Given the description of an element on the screen output the (x, y) to click on. 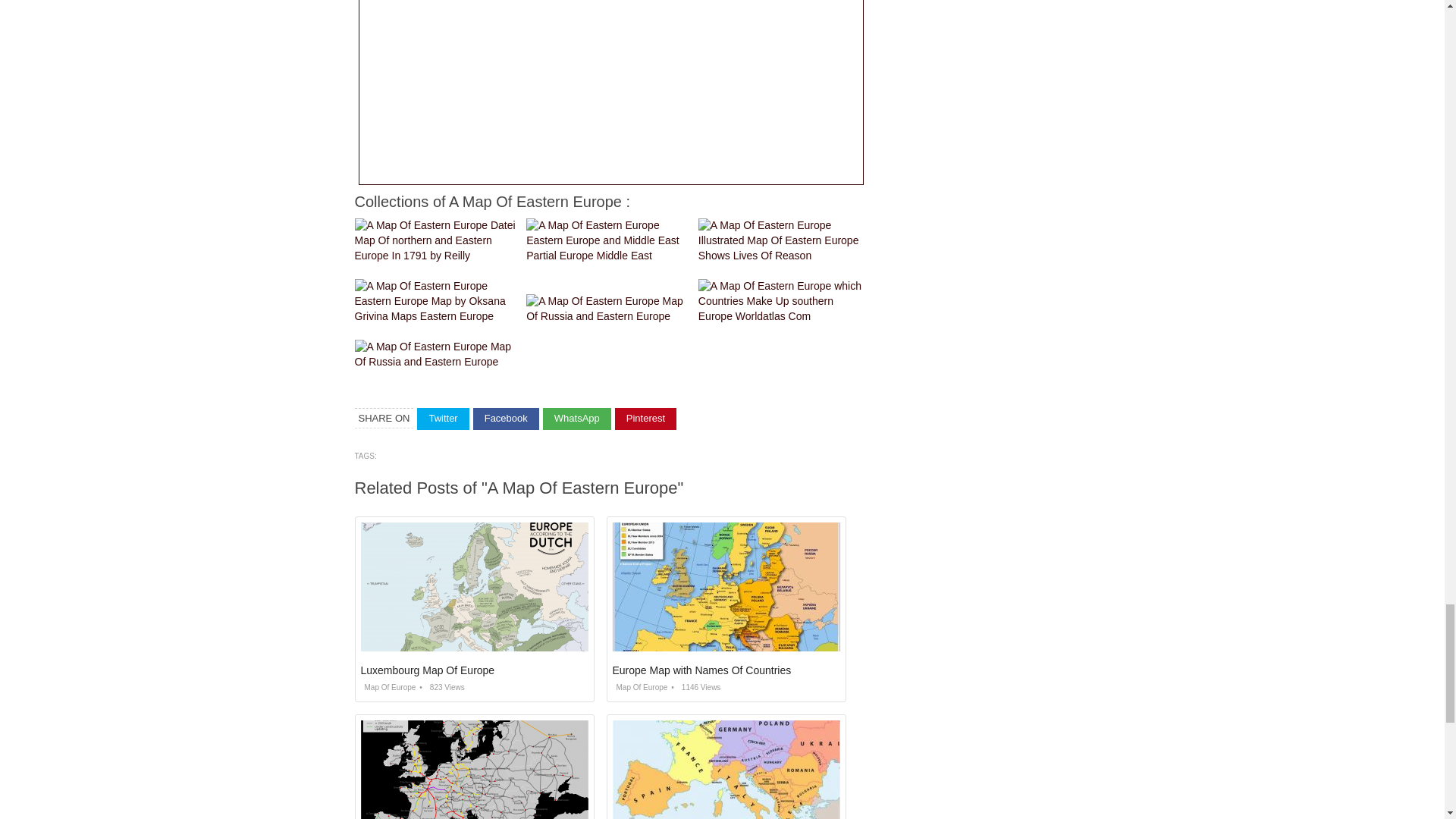
Map Of Europe (388, 687)
Facebook (505, 418)
Luxembourg Map Of Europe (428, 670)
A Map Of Eastern Europe Map Of Russia and Eastern Europe (607, 309)
Europe Map with Names Of Countries (702, 670)
Map Of Europe (640, 687)
Share on Twitter (442, 418)
Twitter (442, 418)
Pinterest (645, 418)
Share on WhatsApp (577, 418)
Share on Facebook (505, 418)
